Given the description of an element on the screen output the (x, y) to click on. 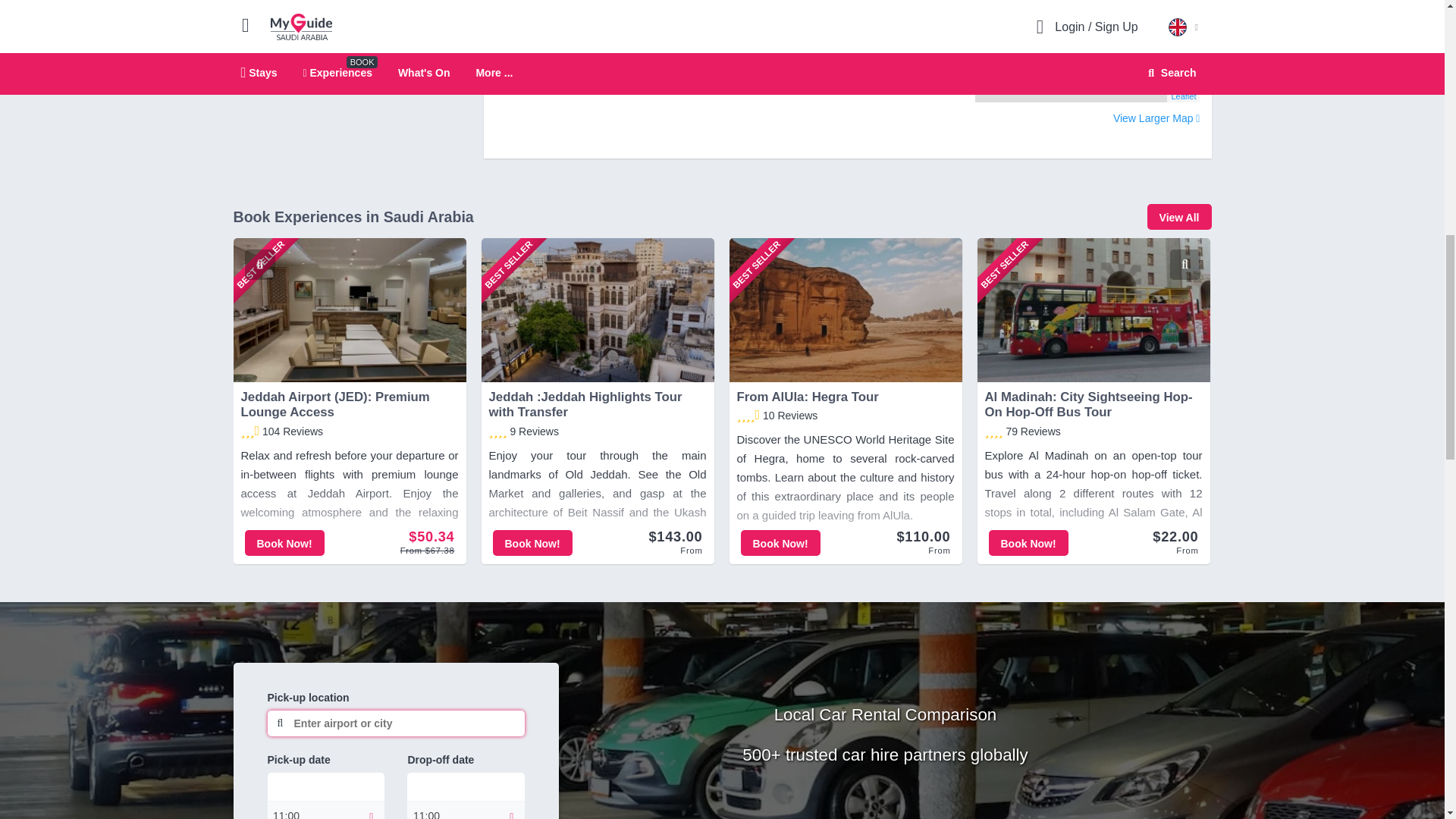
Larger Map for Company: Al Azhar Hotel Jeddah Saudiarabia (1156, 118)
Zoom out (995, 2)
A JS library for interactive maps (1182, 95)
